Given the description of an element on the screen output the (x, y) to click on. 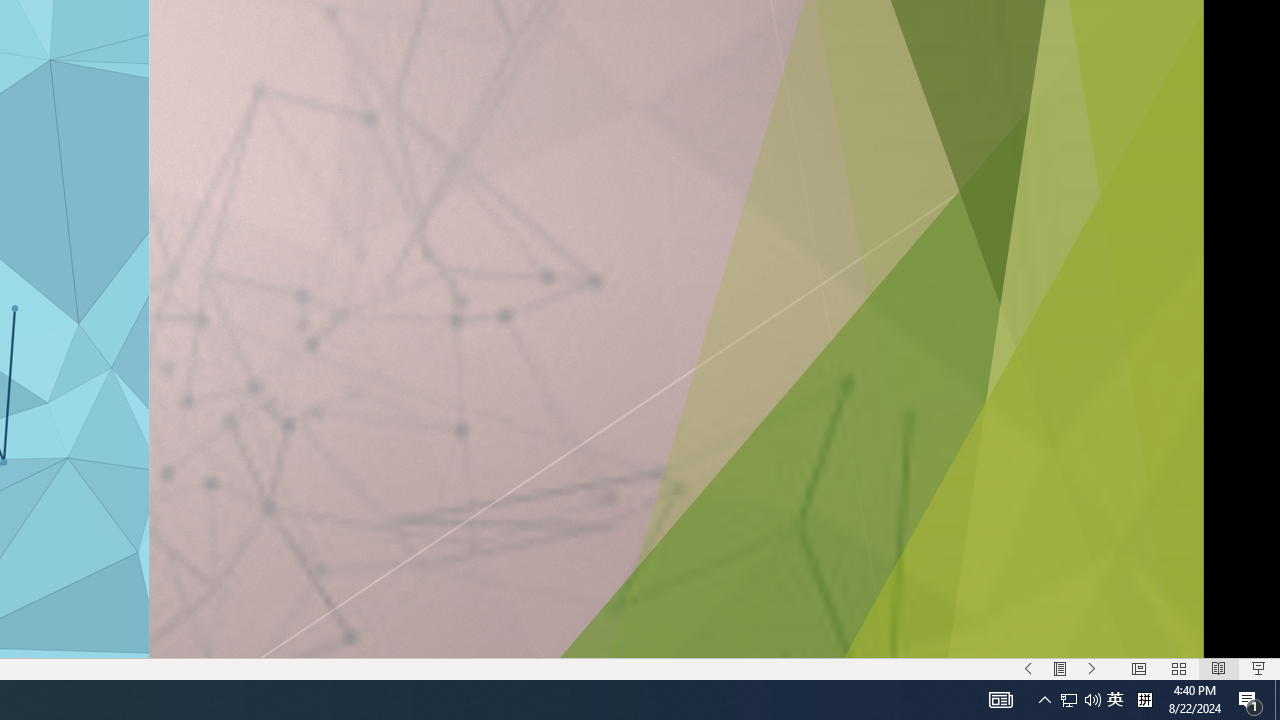
Slide Show Previous On (1028, 668)
Slide Show Next On (1092, 668)
Menu On (1060, 668)
